Given the description of an element on the screen output the (x, y) to click on. 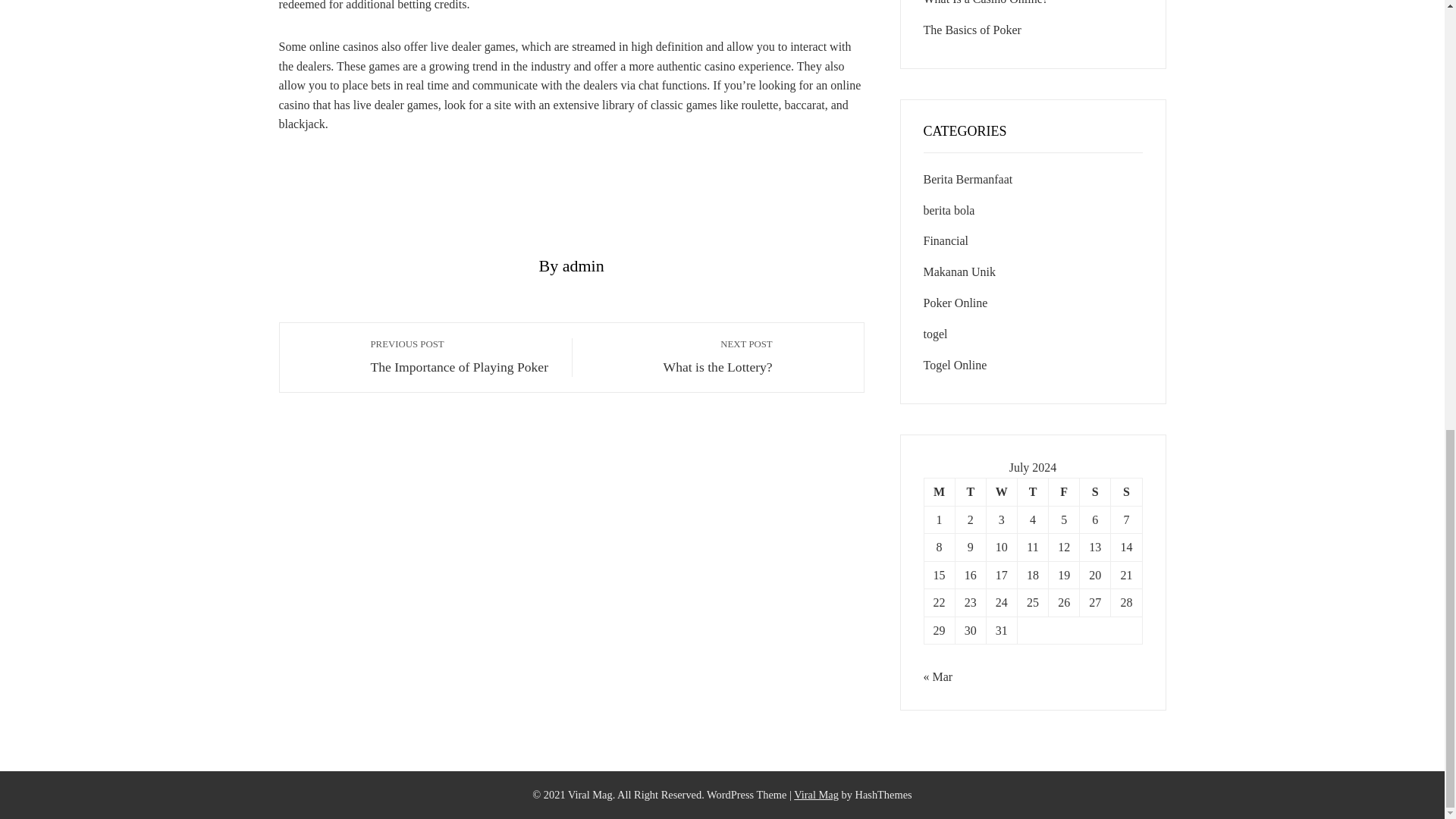
Friday (1064, 491)
Thursday (1032, 491)
Tuesday (970, 491)
Download Viral News (815, 794)
Financial (946, 240)
What Is a Casino Online? (985, 2)
Sunday (1125, 491)
Saturday (462, 356)
Monday (1095, 491)
Makanan Unik (680, 356)
Wednesday (939, 491)
Berita Bermanfaat (959, 271)
berita bola (1000, 491)
